Given the description of an element on the screen output the (x, y) to click on. 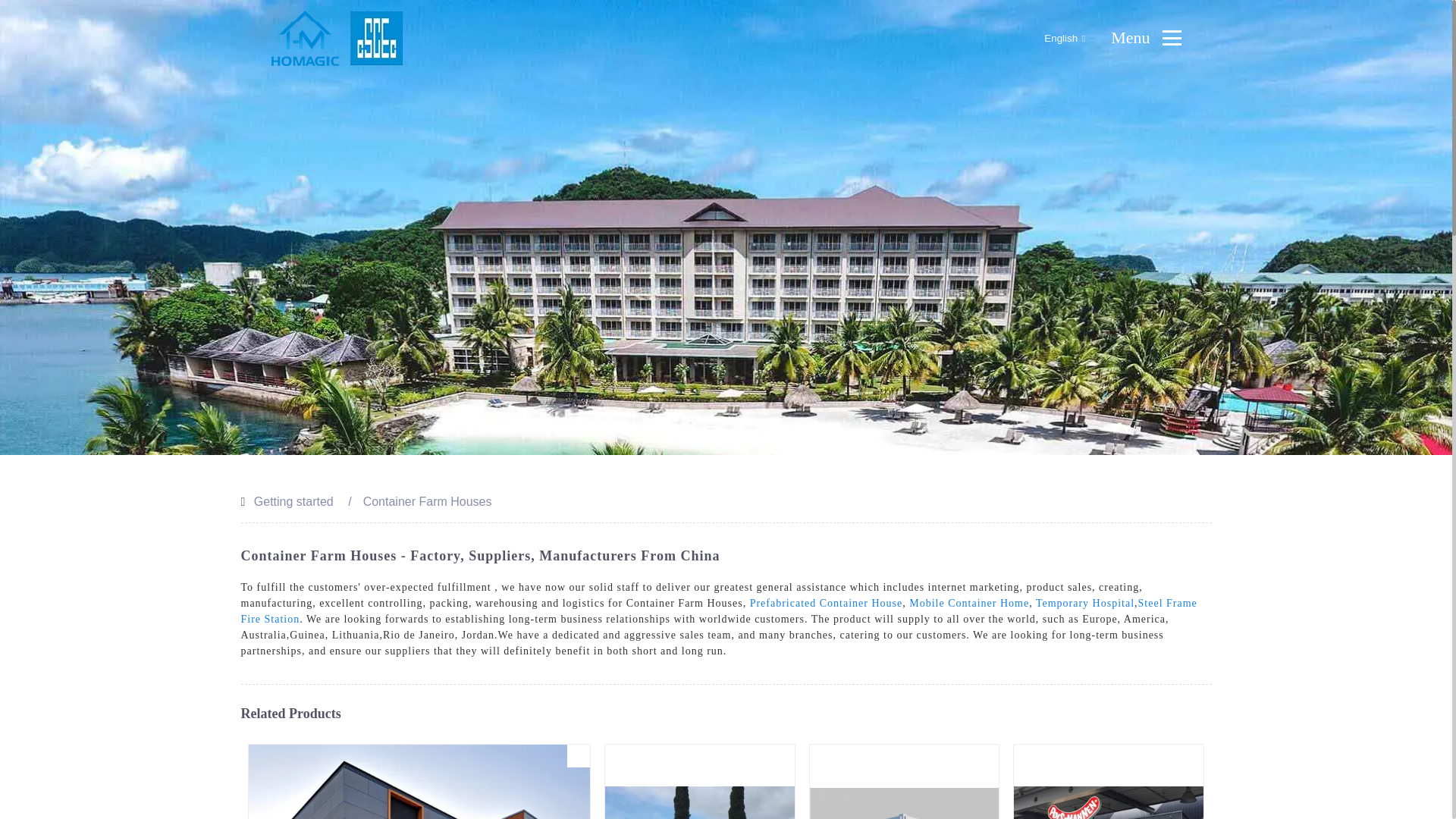
Prefabricated Container House (825, 603)
English (1051, 37)
Container Farm Houses (427, 501)
Prefabricated-Modular-Flat-Pack-Container-Hospital-Container (986, 755)
Mobile Container Home (968, 603)
Temporary Hospital (1084, 603)
Temporary Hospital (1084, 603)
Mobile Container Home (968, 603)
1Modular-Homes-Prefab-Residence-House (578, 755)
132 (782, 755)
